Given the description of an element on the screen output the (x, y) to click on. 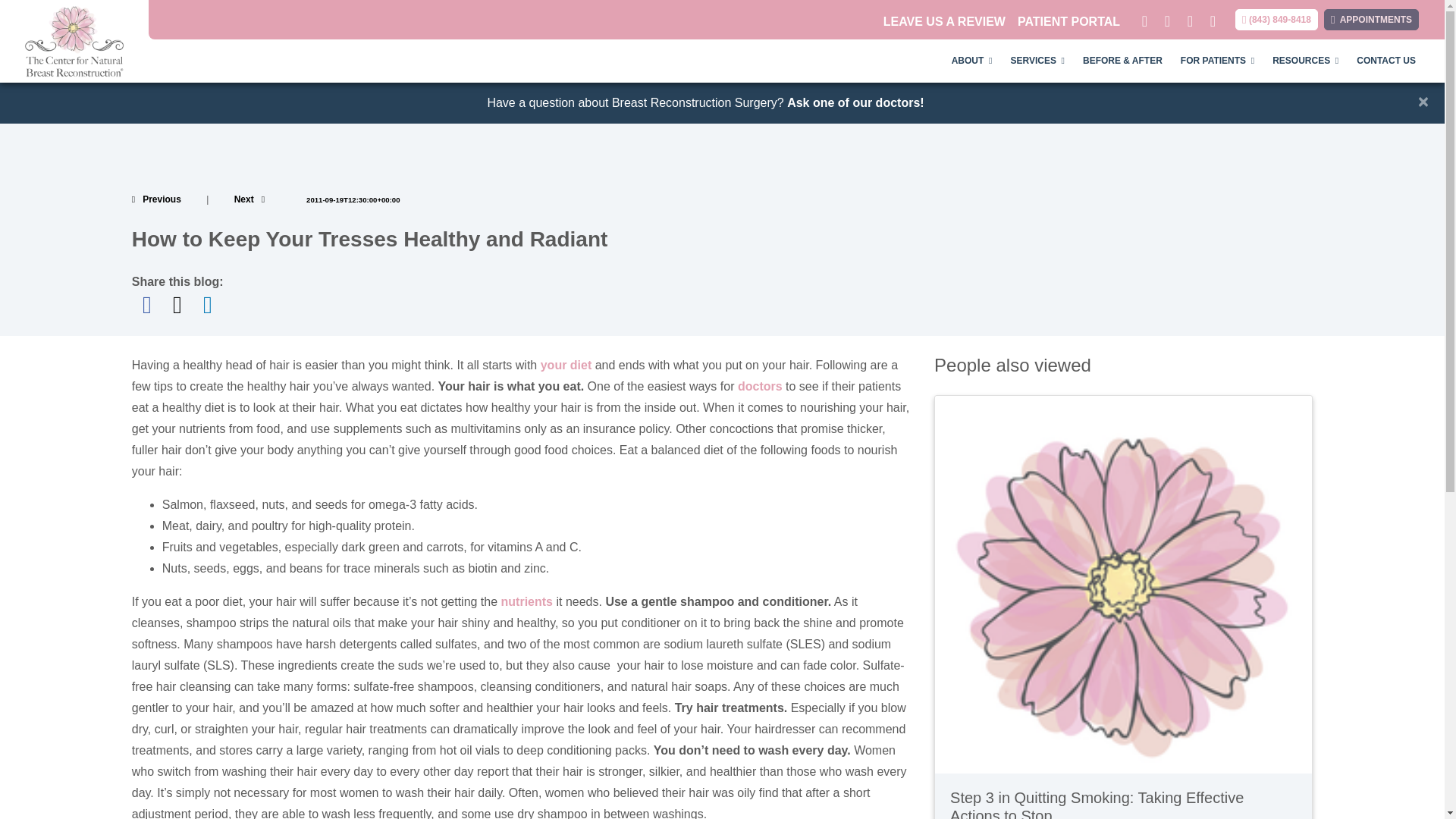
LEAVE US A REVIEW (944, 21)
PATIENT PORTAL (1068, 21)
ABOUT   (971, 60)
RESOURCES   (1305, 60)
SERVICES   (1037, 60)
  APPOINTMENTS (1370, 19)
FOR PATIENTS   (1217, 60)
